Given the description of an element on the screen output the (x, y) to click on. 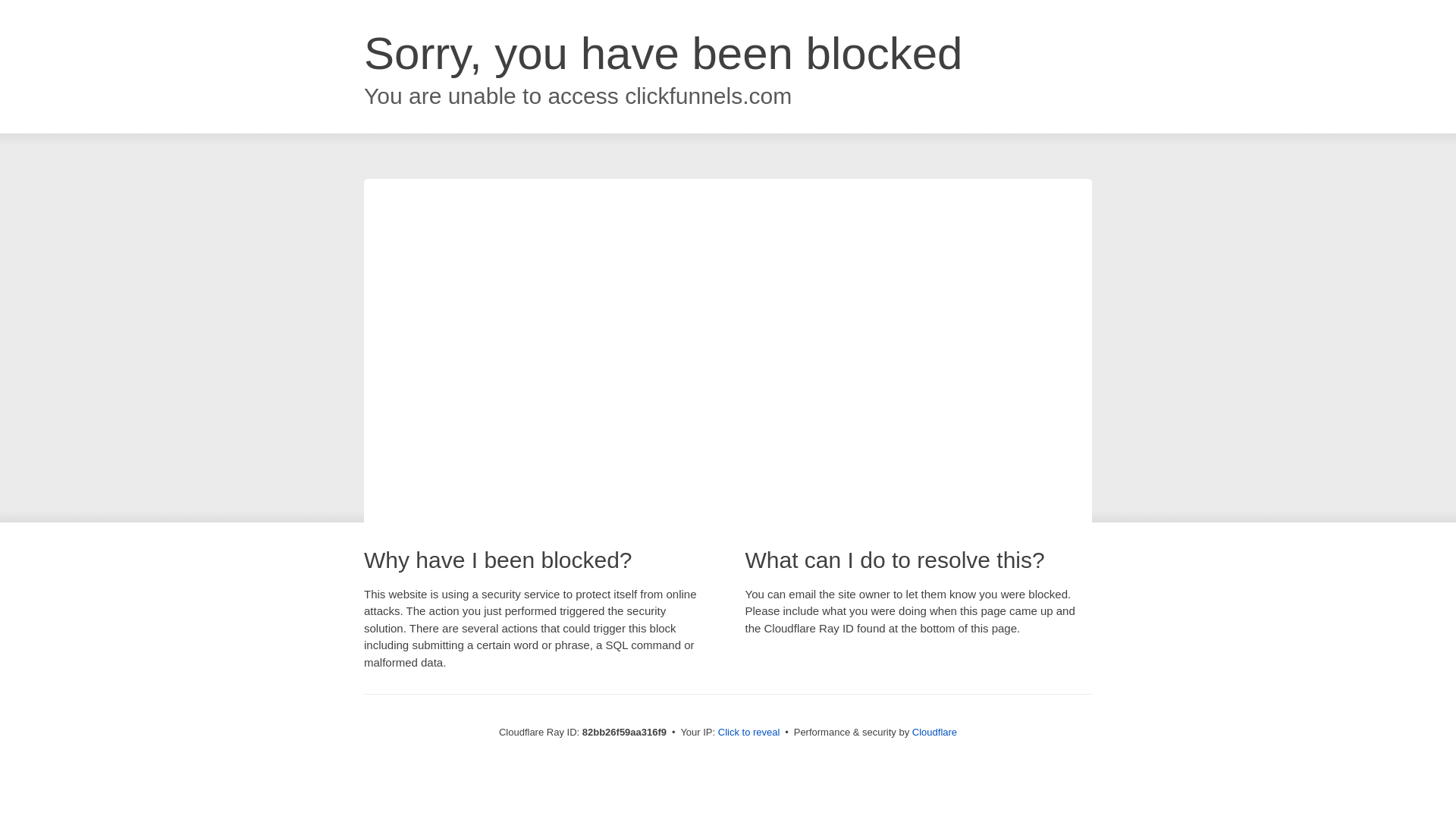
Click to reveal Element type: text (749, 732)
Cloudflare Element type: text (934, 731)
